Given the description of an element on the screen output the (x, y) to click on. 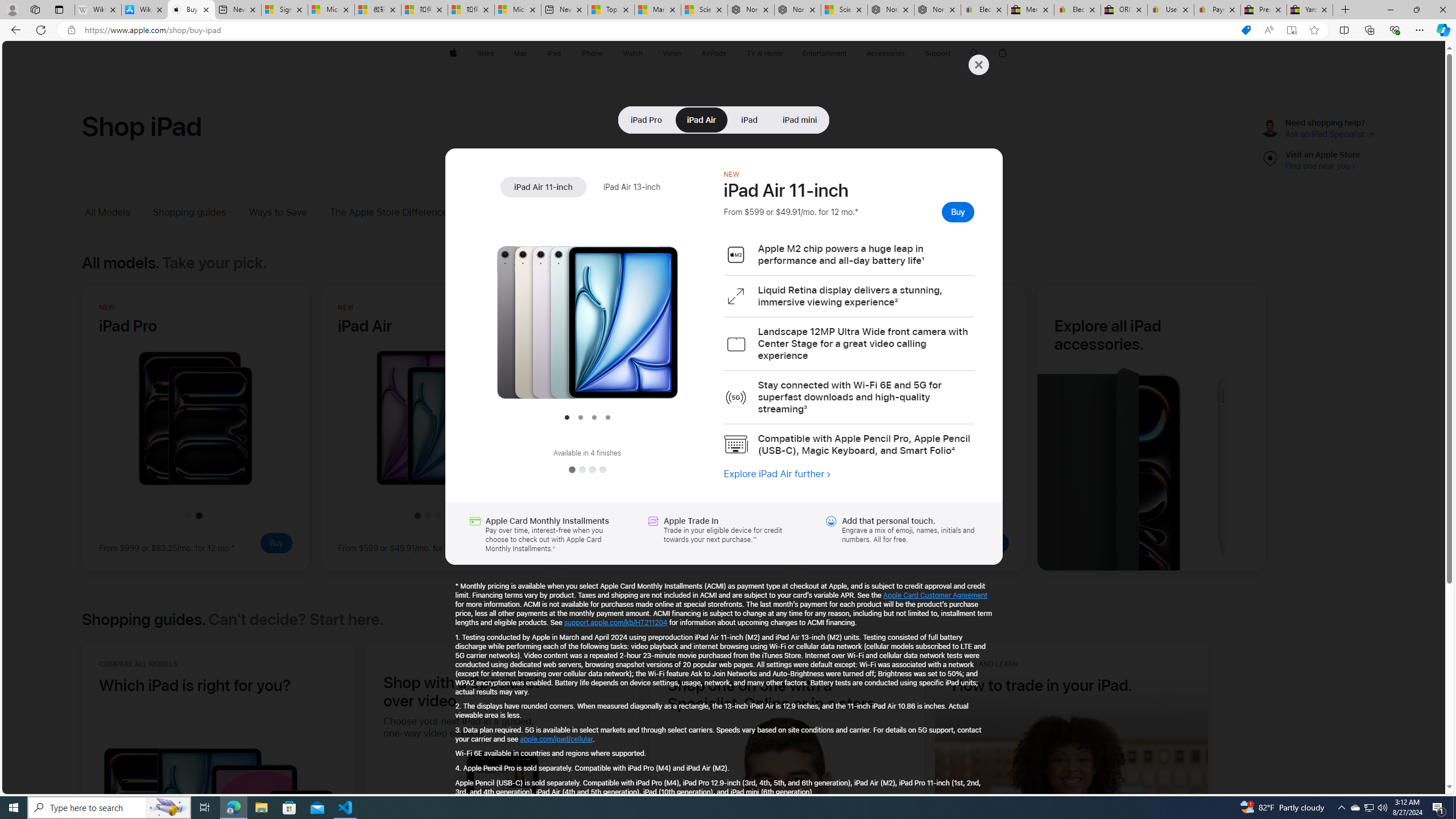
Marine life - MSN (656, 9)
iPad (749, 119)
Starlight (601, 469)
